Given the description of an element on the screen output the (x, y) to click on. 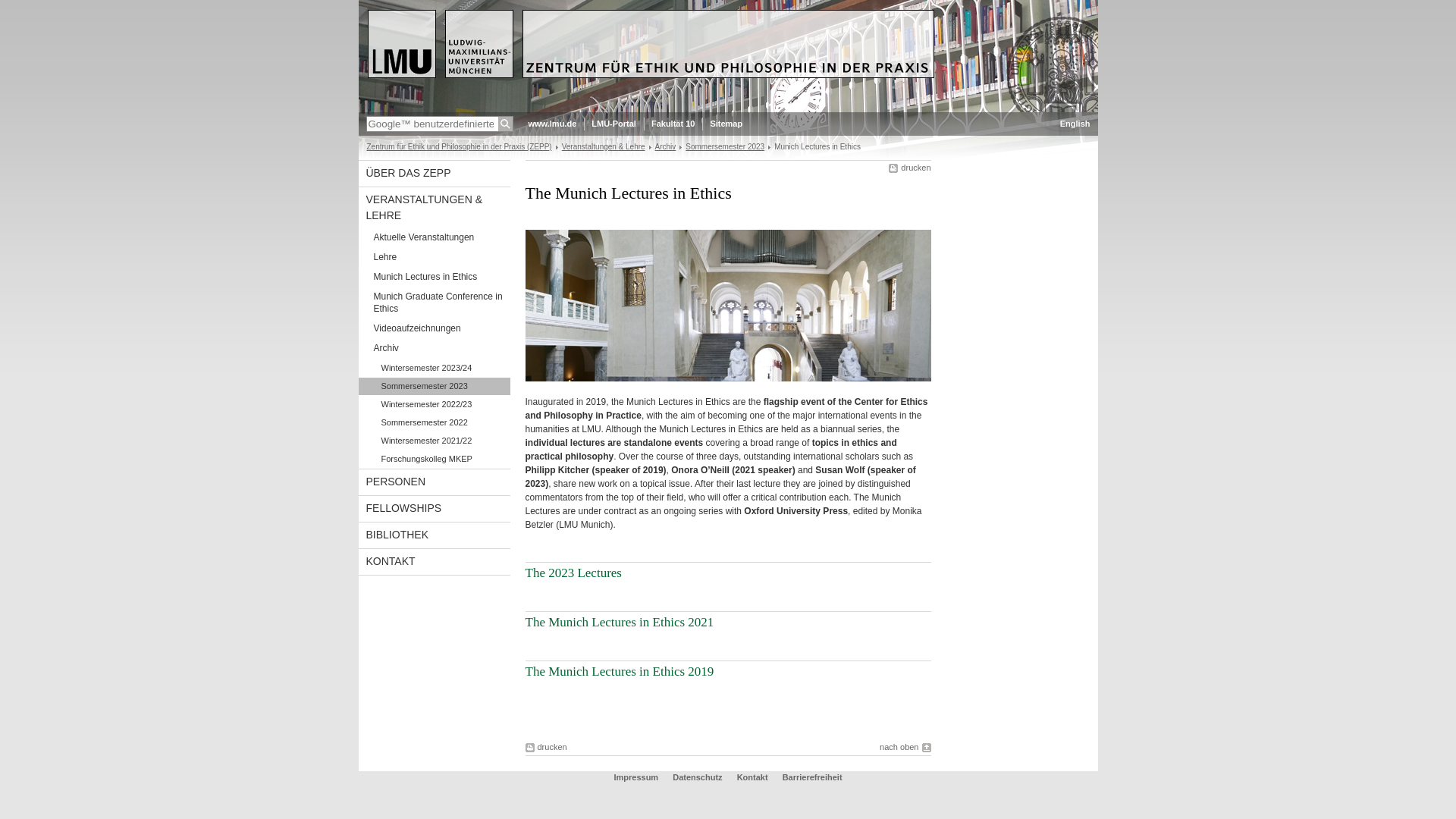
Sitemap (726, 123)
Suchen (504, 124)
Datenschutz  (697, 777)
The Munich Lectures in Ethics 2019 (618, 671)
LMU-Portal (613, 123)
Archiv (433, 348)
Suchen (504, 124)
Impressum  (636, 777)
English (1074, 123)
drucken (909, 167)
